Given the description of an element on the screen output the (x, y) to click on. 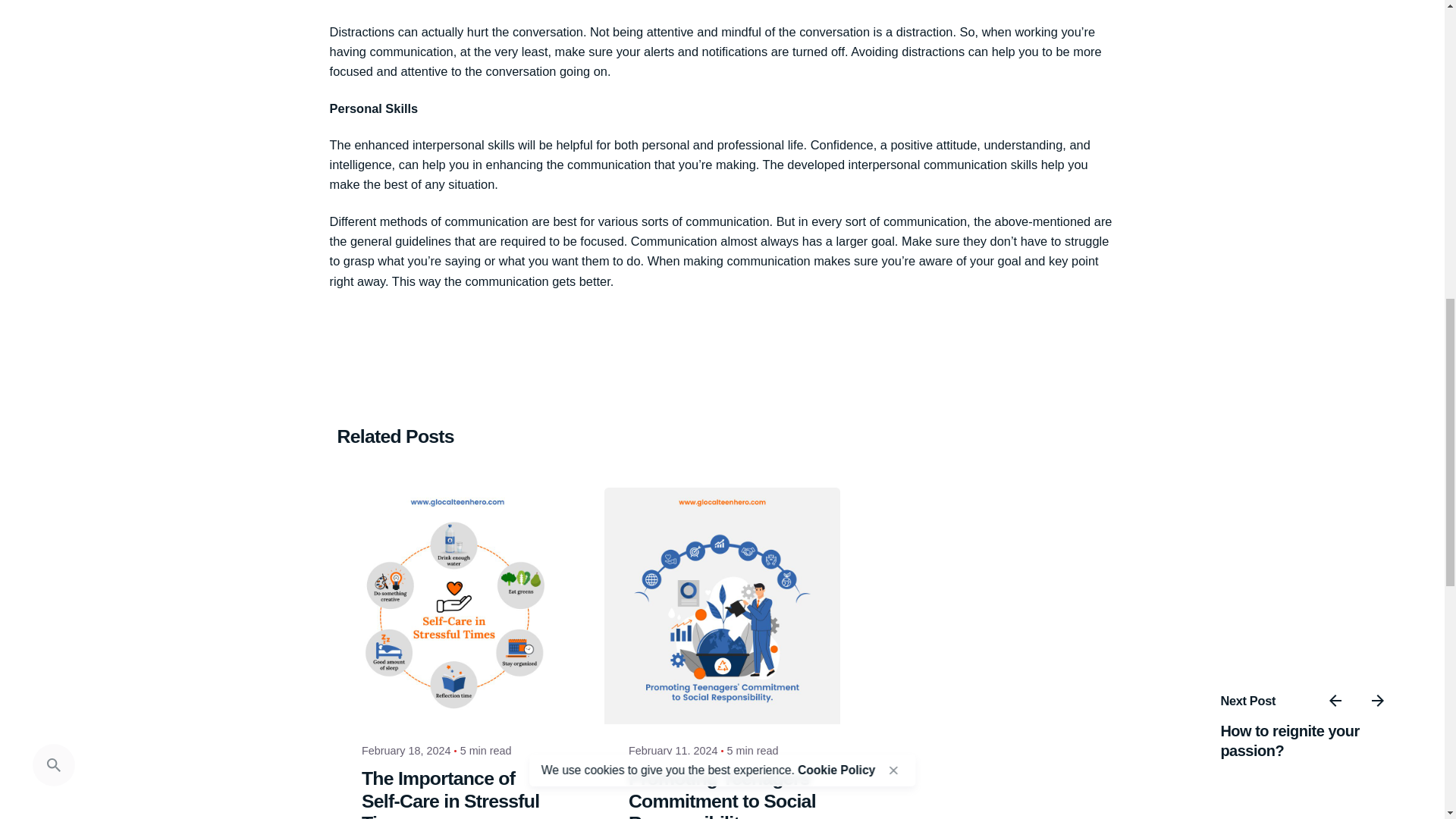
The Importance of Self-Care in Stressful Times. (449, 793)
